Given the description of an element on the screen output the (x, y) to click on. 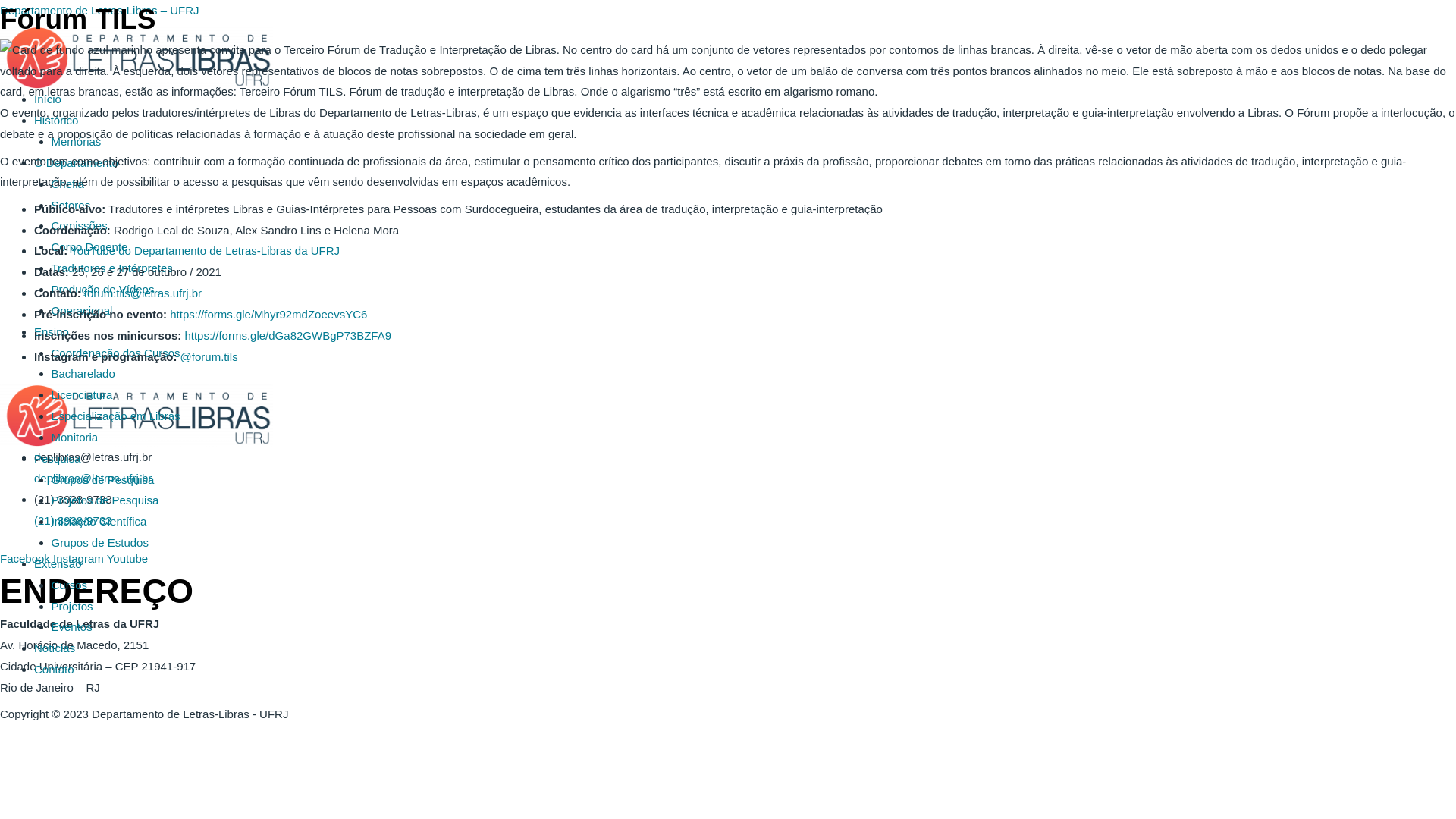
Facebook Element type: text (26, 558)
@forum.tils Element type: text (209, 356)
Grupos de Estudos Element type: text (99, 542)
Bacharelado Element type: text (83, 373)
O Departamento Element type: text (76, 162)
deplibras@letras.ufrj.br Element type: text (92, 477)
Setores Element type: text (71, 204)
Chefia Element type: text (67, 183)
https://forms.gle/Mhyr92mdZoeevsYC6  Element type: text (269, 313)
Instagram Element type: text (79, 558)
Contato Element type: text (54, 668)
Projetos de Pesquisa Element type: text (105, 499)
Cursos Element type: text (69, 584)
https://forms.gle/dGa82GWBgP73BZFA9 Element type: text (287, 335)
Eventos Element type: text (71, 626)
forum.tils@letras.ufrj.br Element type: text (142, 292)
Pesquisa Element type: text (57, 457)
Grupos de Pesquisa Element type: text (102, 479)
(21) 3938-9733 Element type: text (73, 520)
Youtube Element type: text (127, 558)
Corpo Docente Element type: text (89, 246)
Projetos Element type: text (72, 605)
YouTube do Departamento de Letras-Libras da UFRJ  Element type: text (206, 250)
Licenciatura Element type: text (81, 394)
Ensino Element type: text (51, 331)
Monitoria Element type: text (74, 436)
Operacional Element type: text (81, 310)
